Given the description of an element on the screen output the (x, y) to click on. 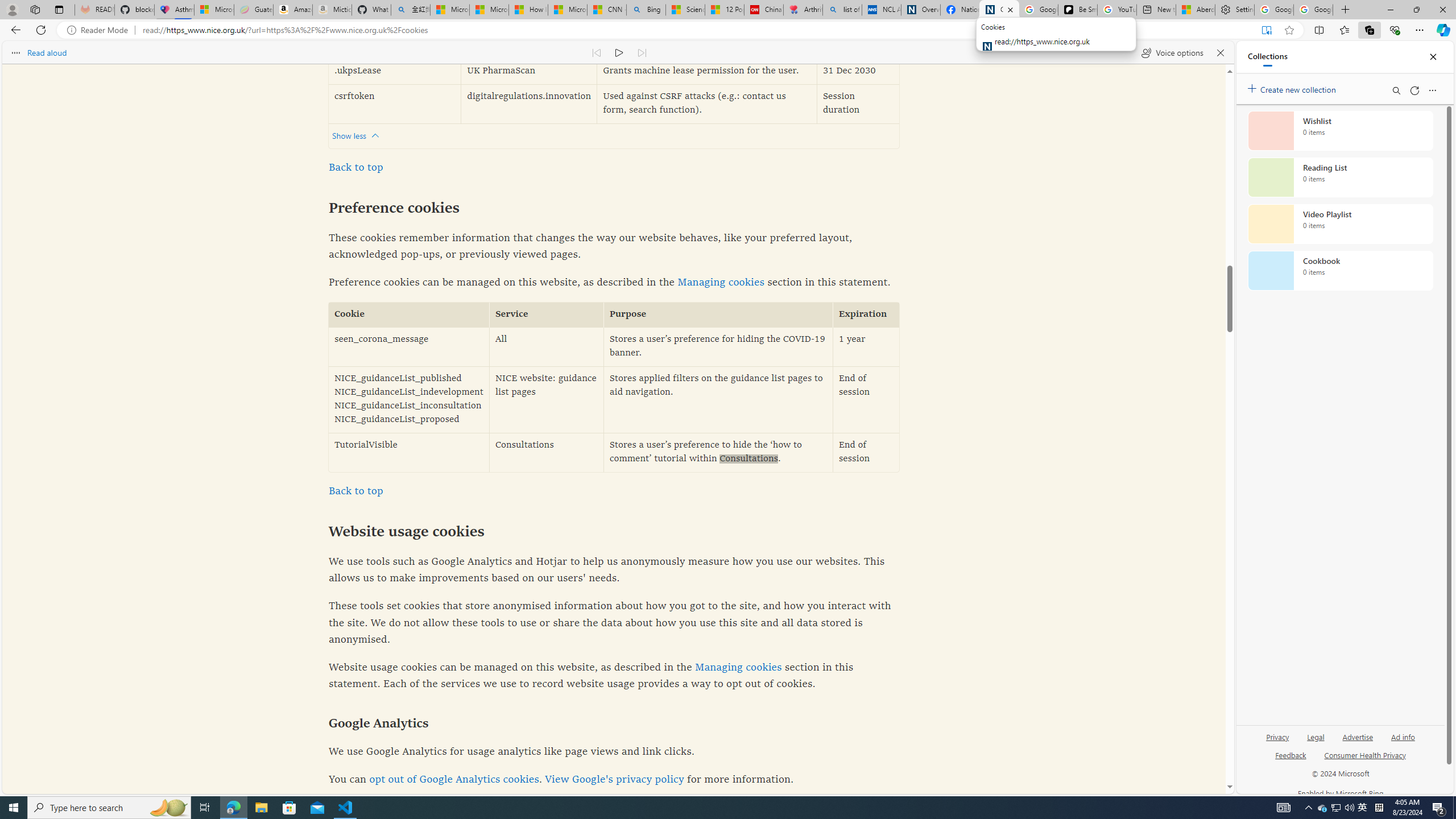
Aberdeen, Hong Kong SAR hourly forecast | Microsoft Weather (1195, 9)
All (546, 346)
NICE website: guidance list pages (546, 399)
More options menu (1432, 90)
Purpose (717, 315)
Arthritis: Ask Health Professionals (802, 9)
12 Popular Science Lies that Must be Corrected (724, 9)
